Given the description of an element on the screen output the (x, y) to click on. 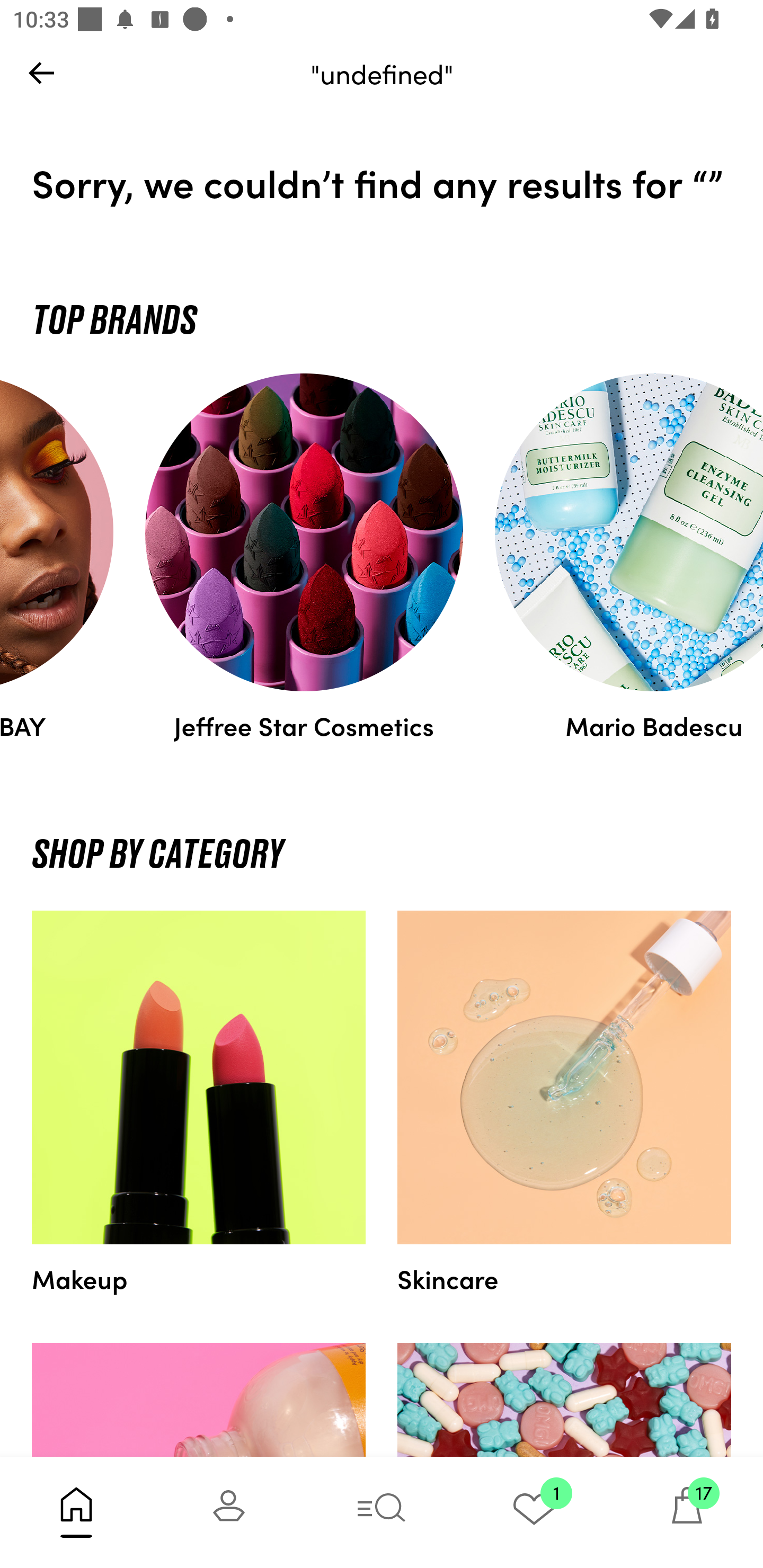
Jeffree Star Cosmetics (303, 557)
Mario Badescu (621, 557)
Makeup (198, 1103)
Skincare (563, 1103)
1 (533, 1512)
17 (686, 1512)
